Given the description of an element on the screen output the (x, y) to click on. 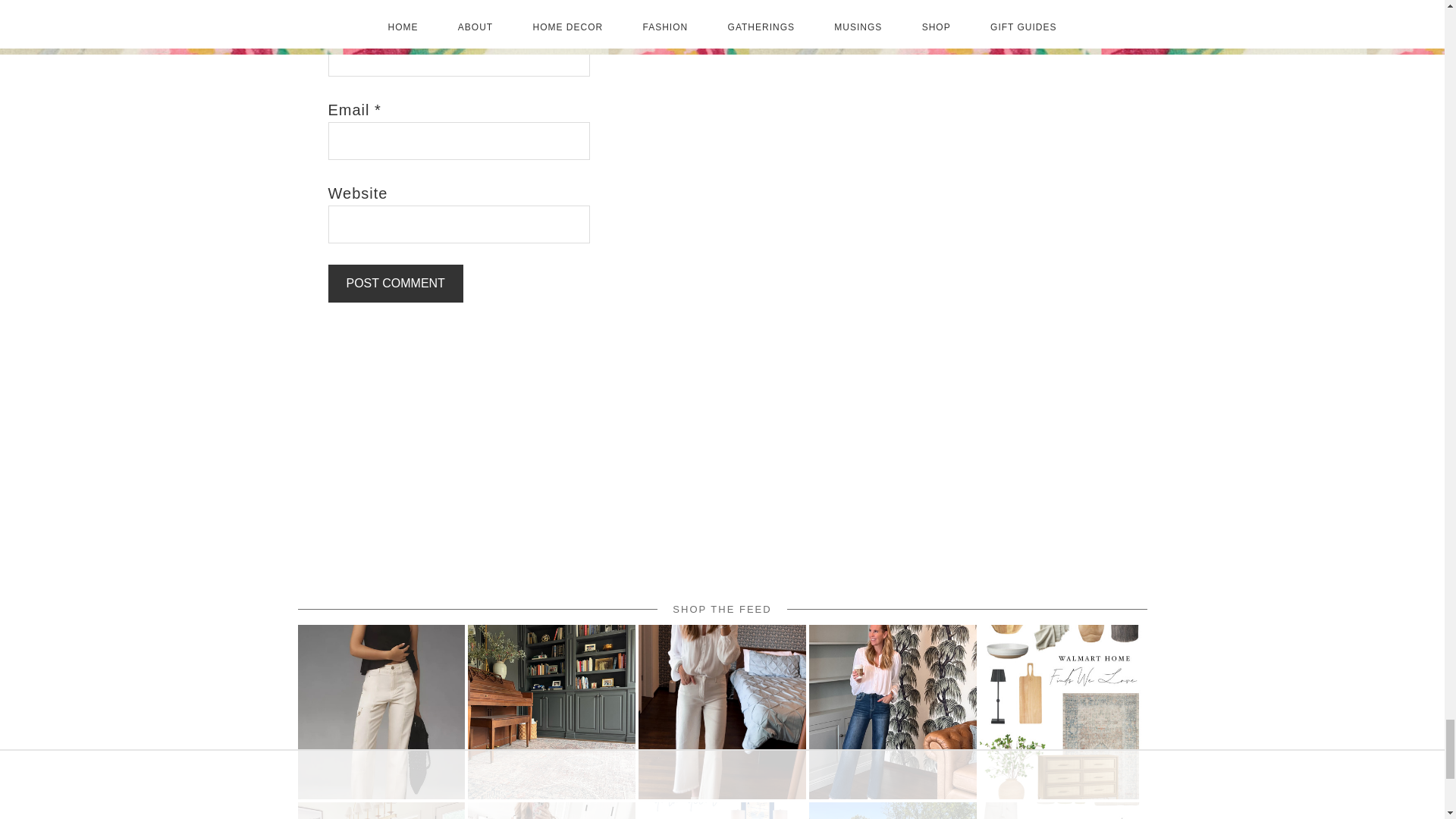
Post Comment (395, 283)
